Given the description of an element on the screen output the (x, y) to click on. 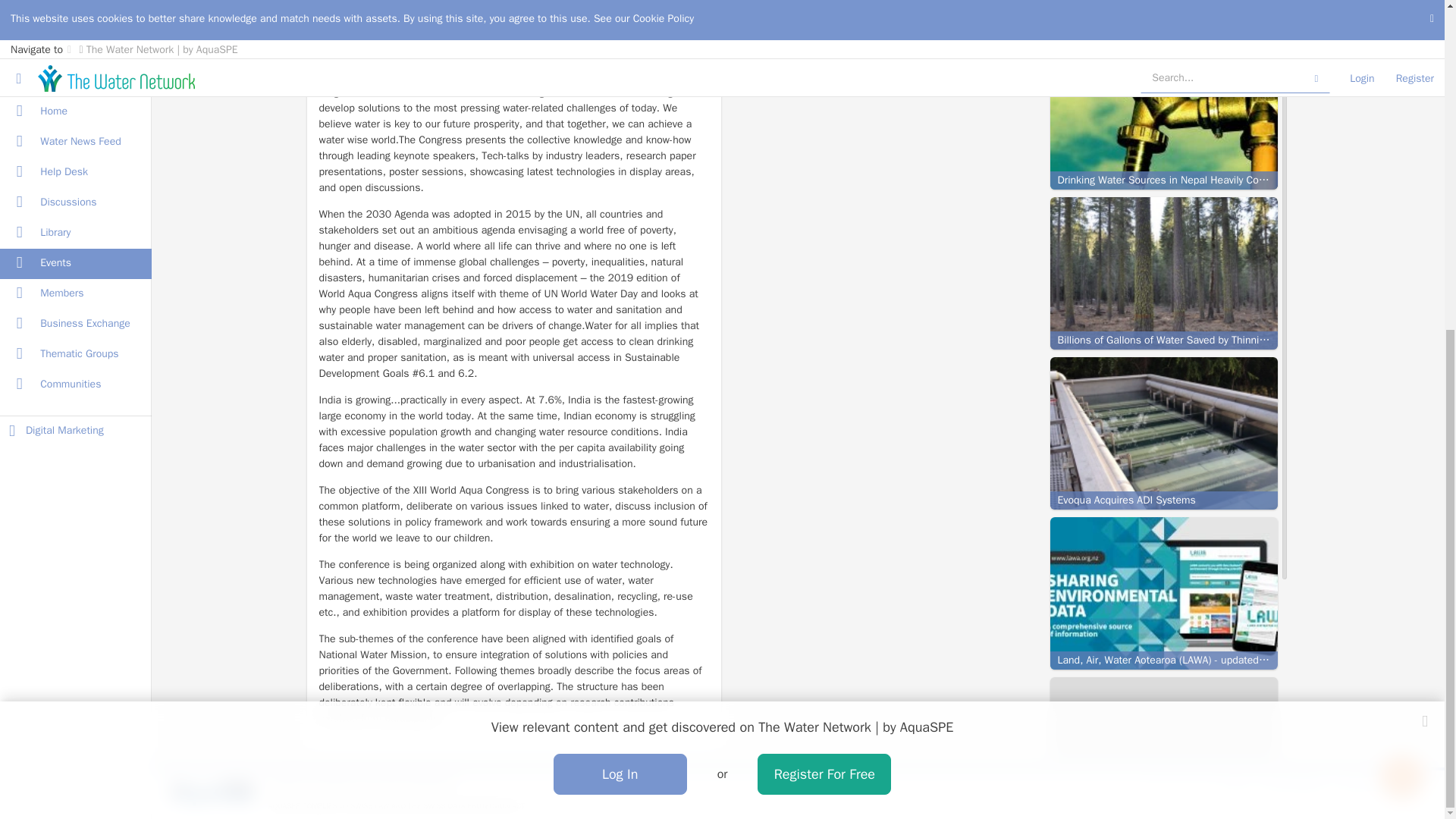
Create (1401, 230)
Water Leasing - New Tool for Conserving the Environment (1162, 470)
Evoqua Acquires ADI Systems (1162, 33)
Connect (770, 62)
